Given the description of an element on the screen output the (x, y) to click on. 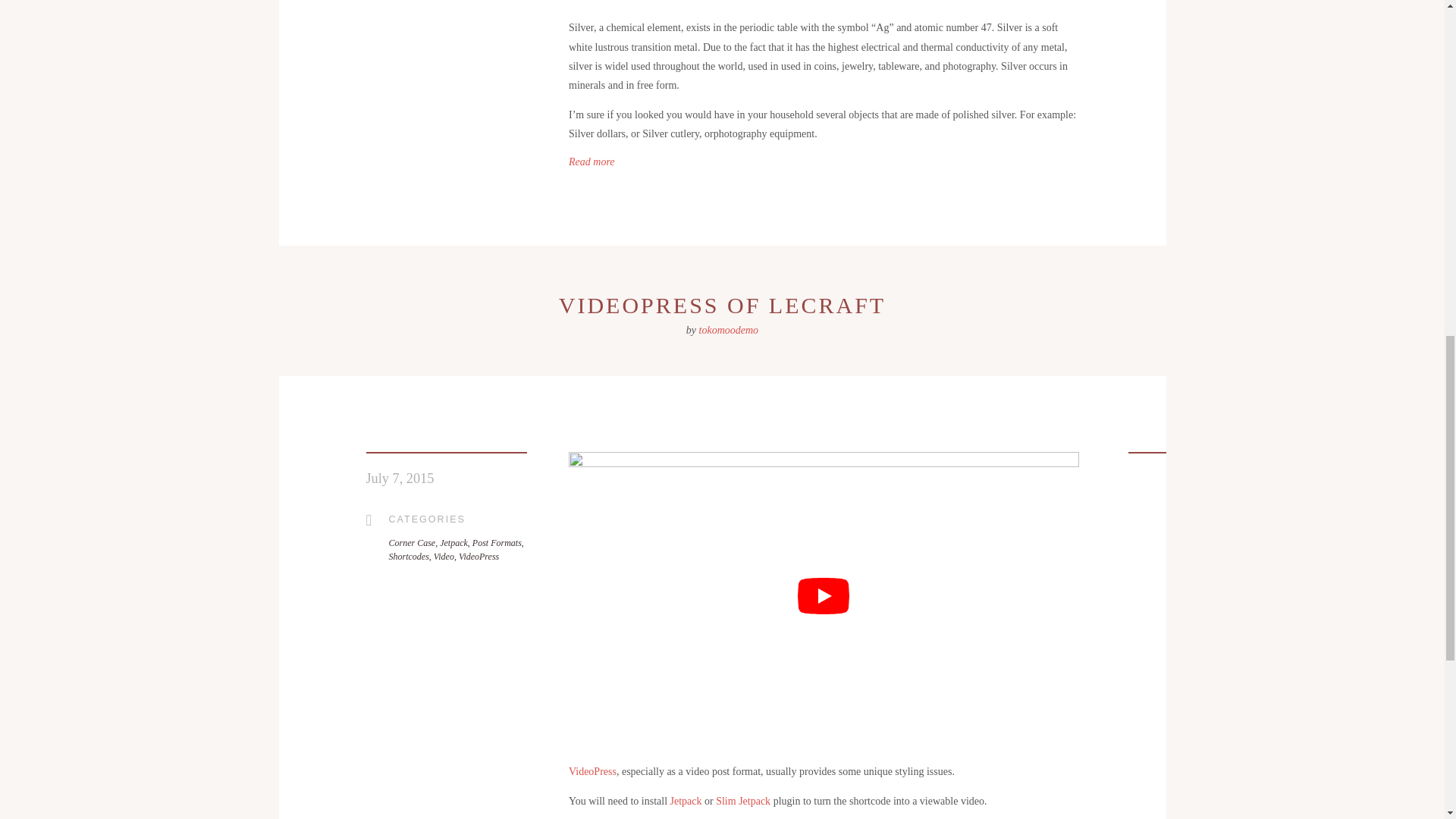
tokomoodemo (728, 329)
Tuesday, July 7th, 2015, 3:00 am (399, 478)
Slim Jetpack (743, 800)
Jetpack for WordPress (685, 800)
VideoPress Plugin for WordPress (592, 771)
